Given the description of an element on the screen output the (x, y) to click on. 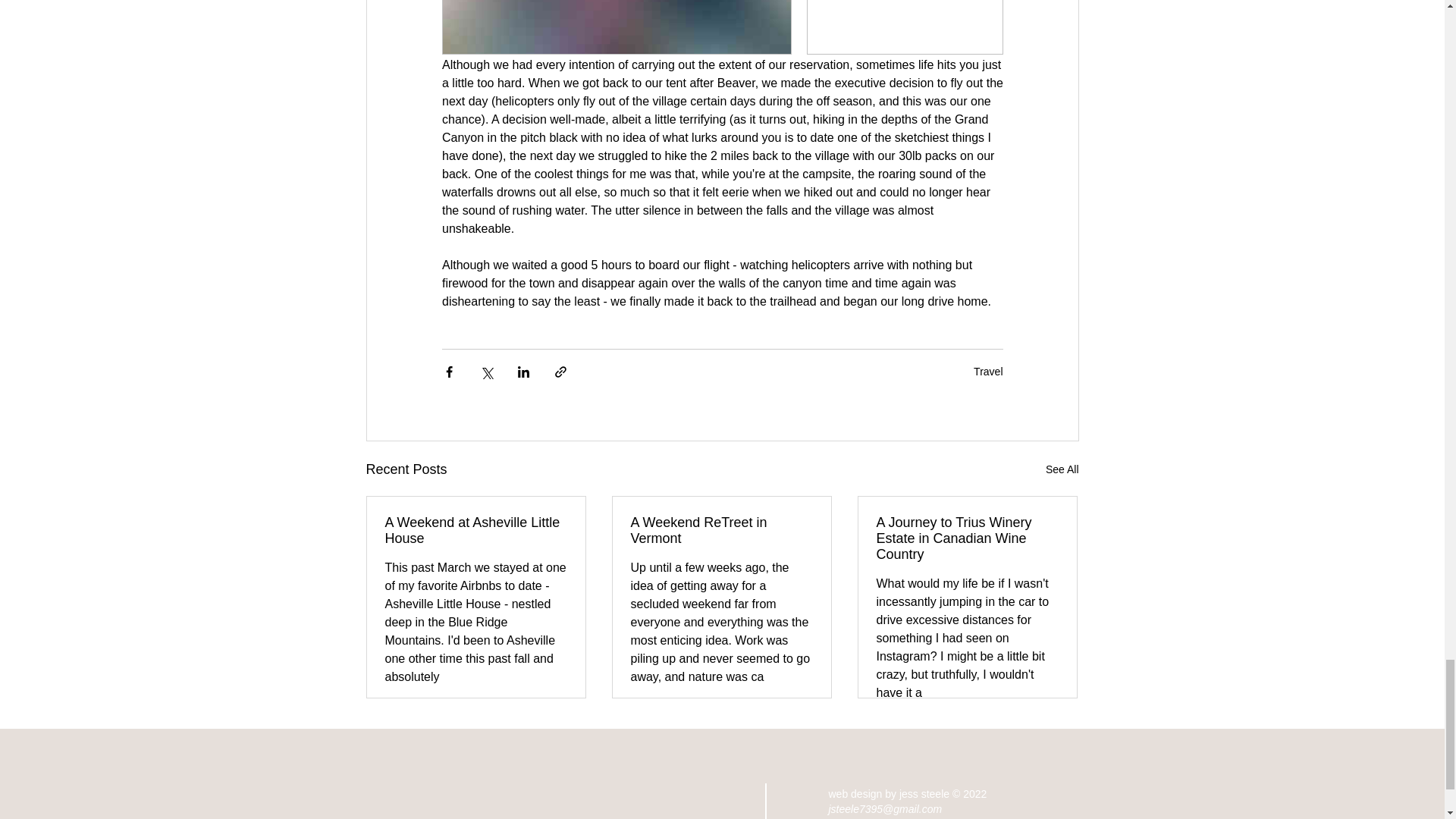
Travel (988, 371)
A Weekend ReTreet in Vermont (721, 531)
A Journey to Trius Winery Estate in Canadian Wine Country (967, 538)
See All (1061, 469)
A Weekend at Asheville Little House (476, 531)
